Given the description of an element on the screen output the (x, y) to click on. 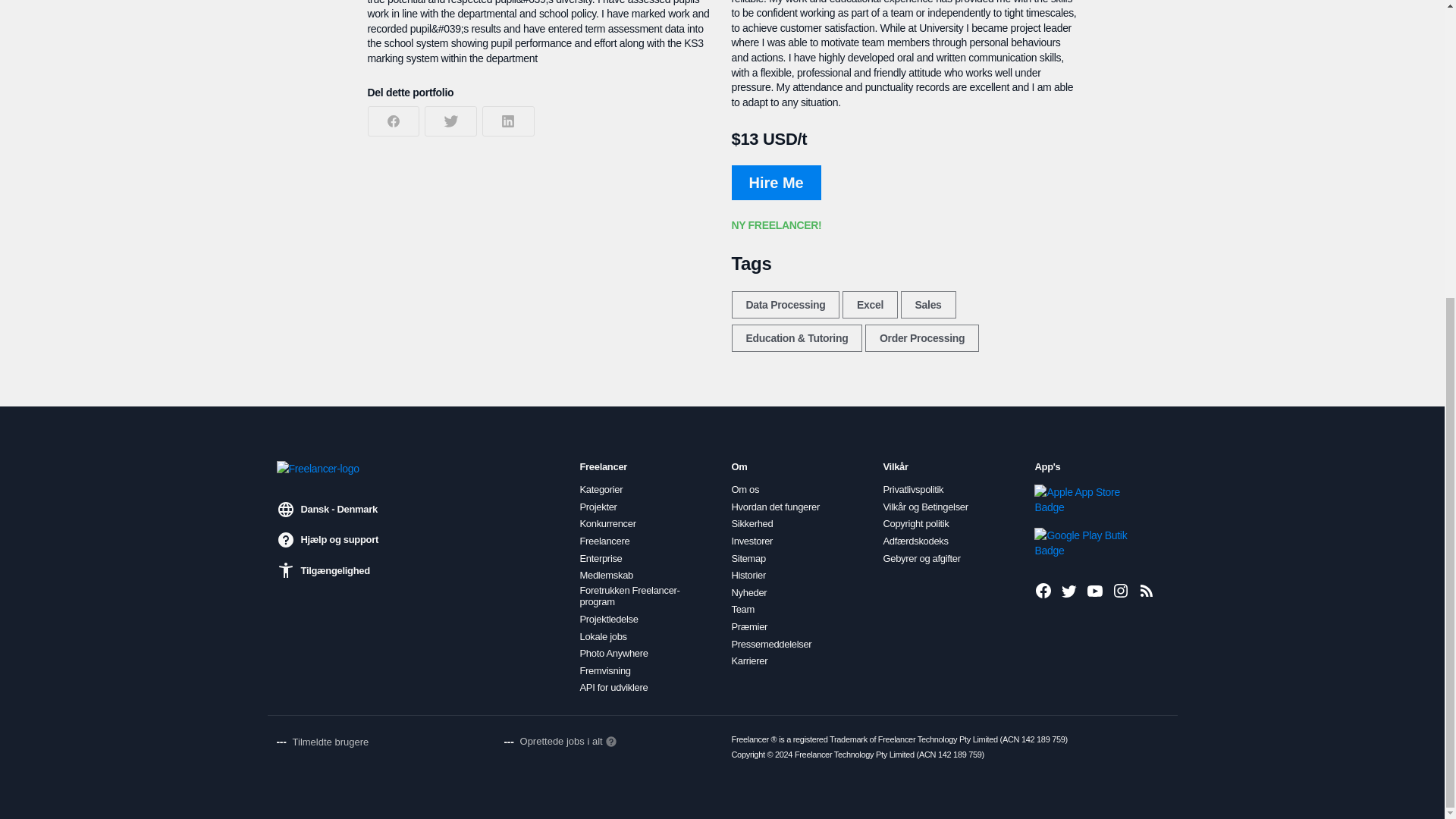
Nyheder (748, 592)
Hire Me (775, 182)
Investorer (751, 541)
Excel (870, 304)
Freelancere (603, 541)
Order Processing (921, 338)
Lokale jobs (602, 636)
Download fra AppStore (1085, 499)
Projekter (597, 507)
Historier (747, 575)
